Given the description of an element on the screen output the (x, y) to click on. 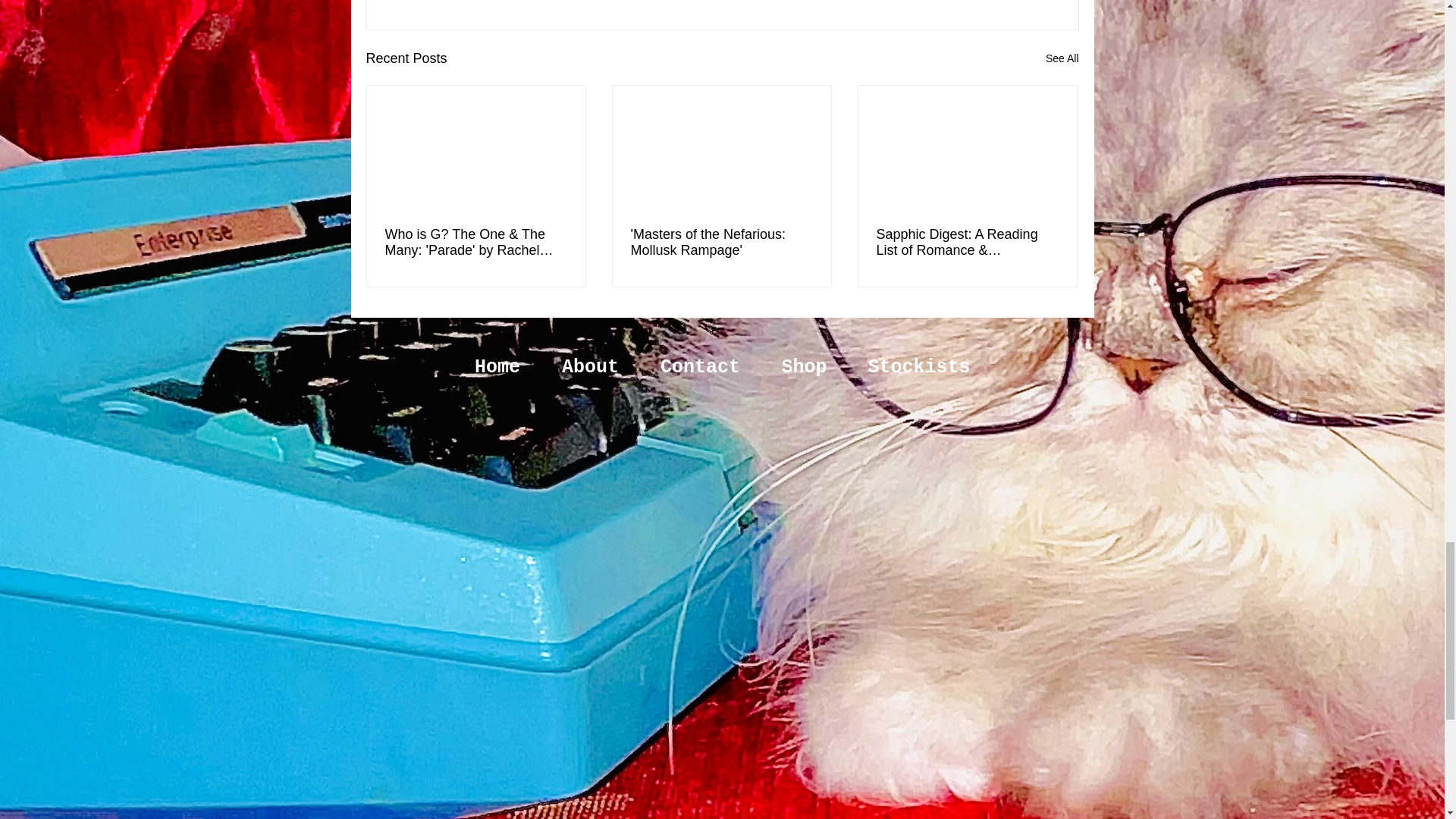
Home (496, 367)
Shop (804, 367)
Stockists (919, 367)
'Masters of the Nefarious: Mollusk Rampage' (721, 242)
About (590, 367)
Contact (700, 367)
See All (1061, 58)
